Given the description of an element on the screen output the (x, y) to click on. 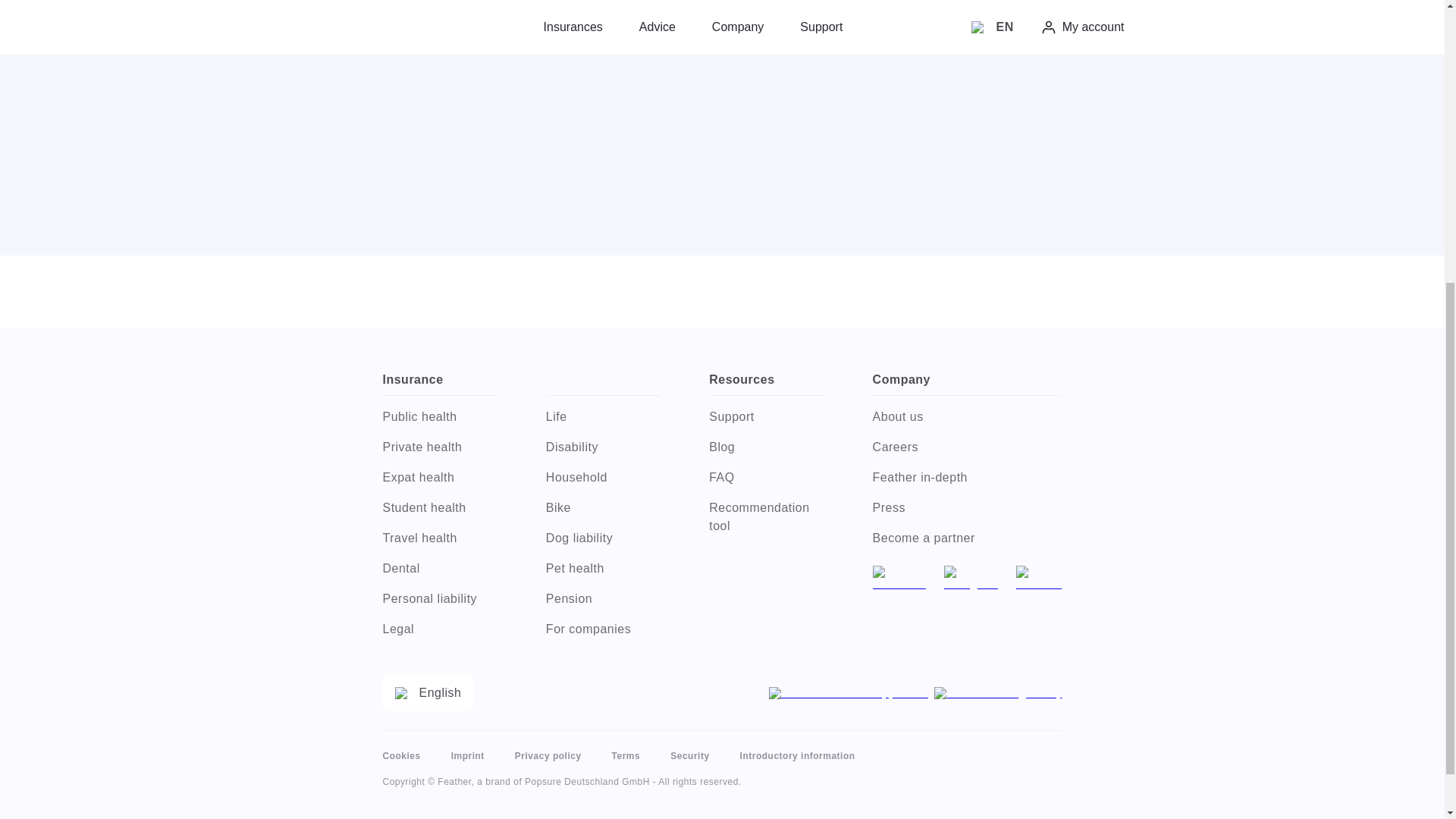
Expat health (438, 477)
Private health (438, 447)
Travel health (438, 538)
Go to Homepage (722, 26)
Public health (438, 416)
Student health (438, 507)
